Given the description of an element on the screen output the (x, y) to click on. 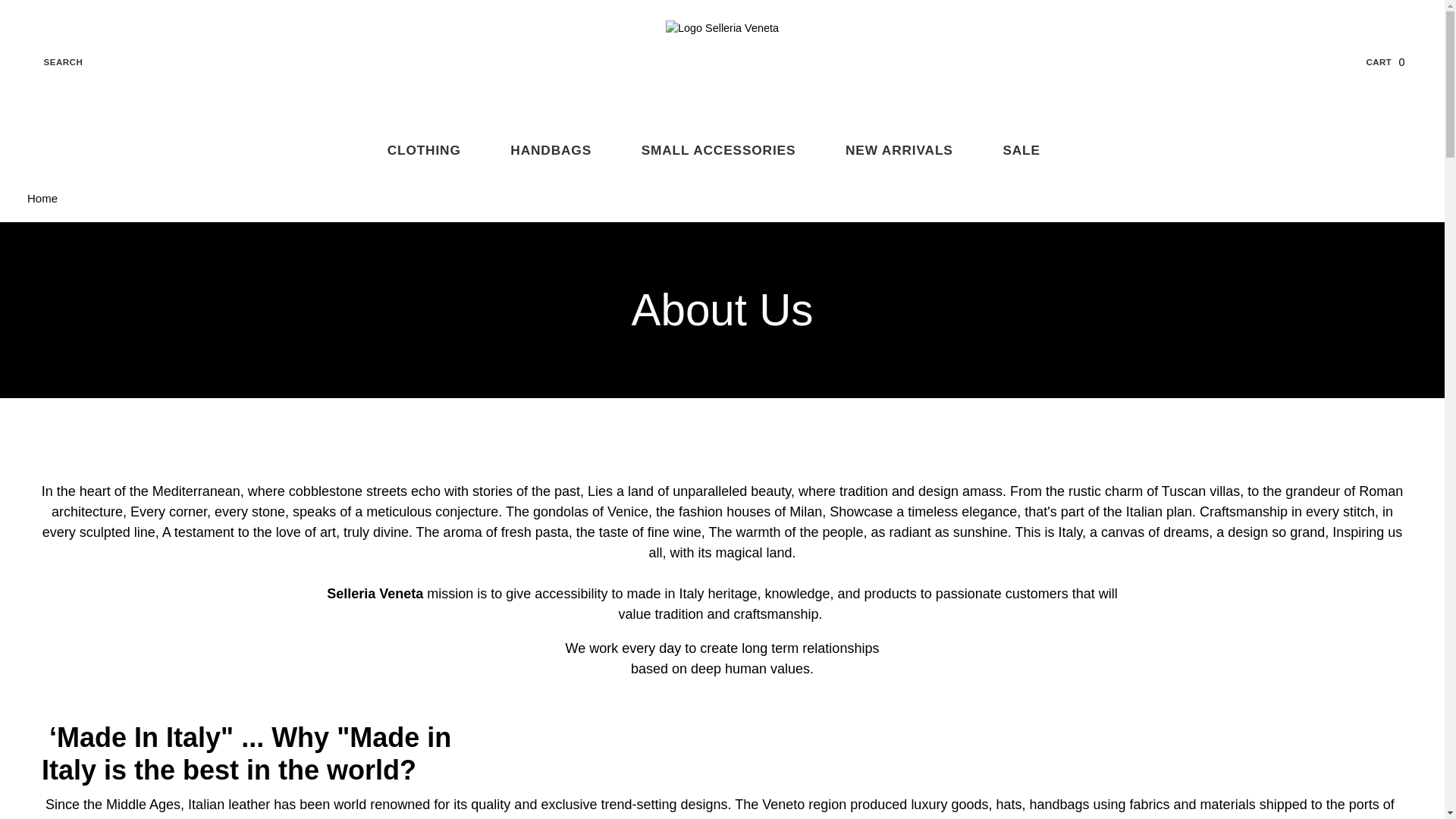
SALE (1030, 150)
NEW ARRIVALS (906, 150)
HANDBAGS (559, 150)
SMALL ACCESSORIES (726, 150)
Home (1394, 62)
CLOTHING (42, 197)
SEARCH (433, 150)
